Given the description of an element on the screen output the (x, y) to click on. 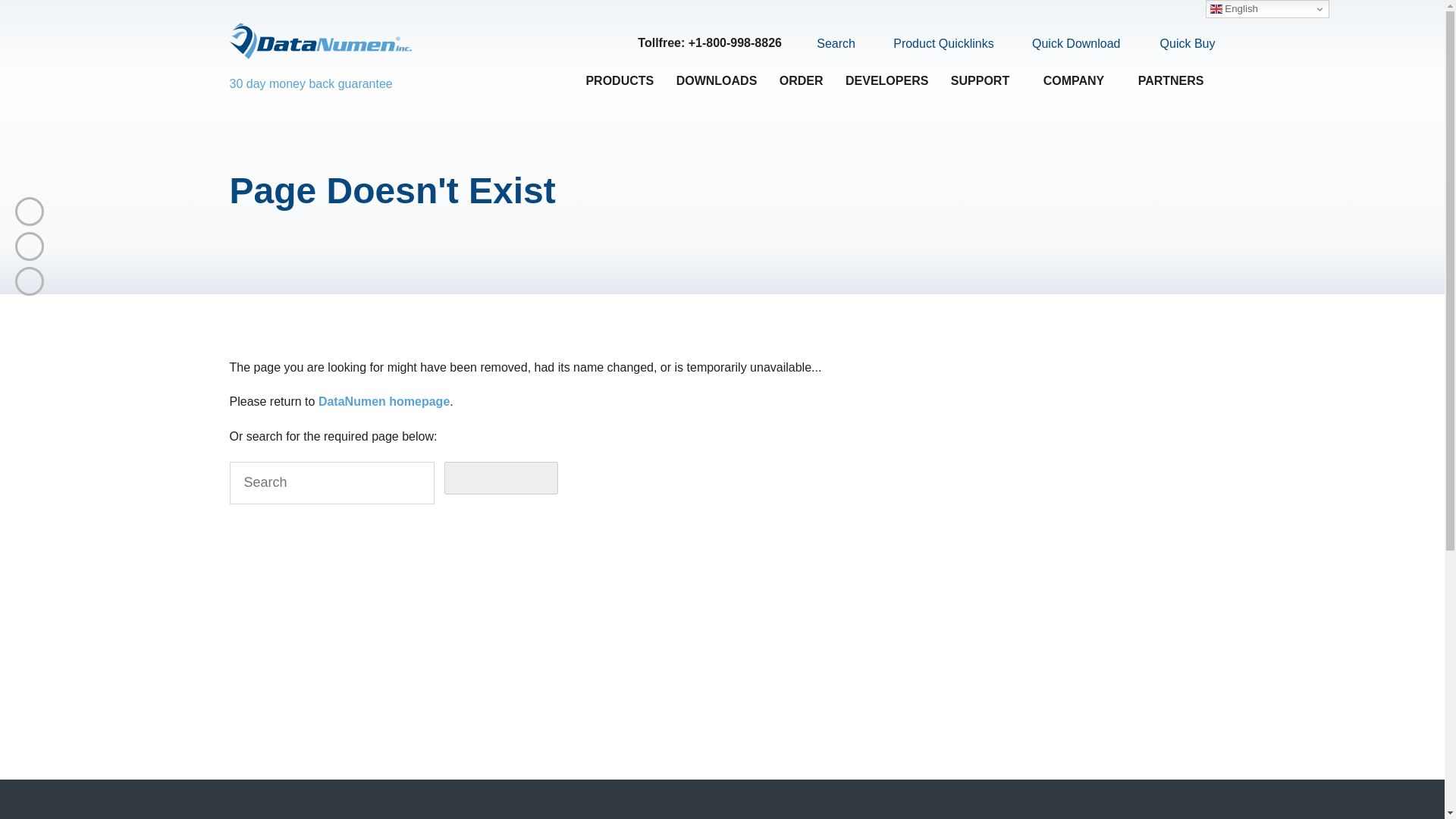
Search for: (330, 482)
Product Quicklinks (934, 44)
Search (827, 43)
Quick Download (1066, 44)
